Given the description of an element on the screen output the (x, y) to click on. 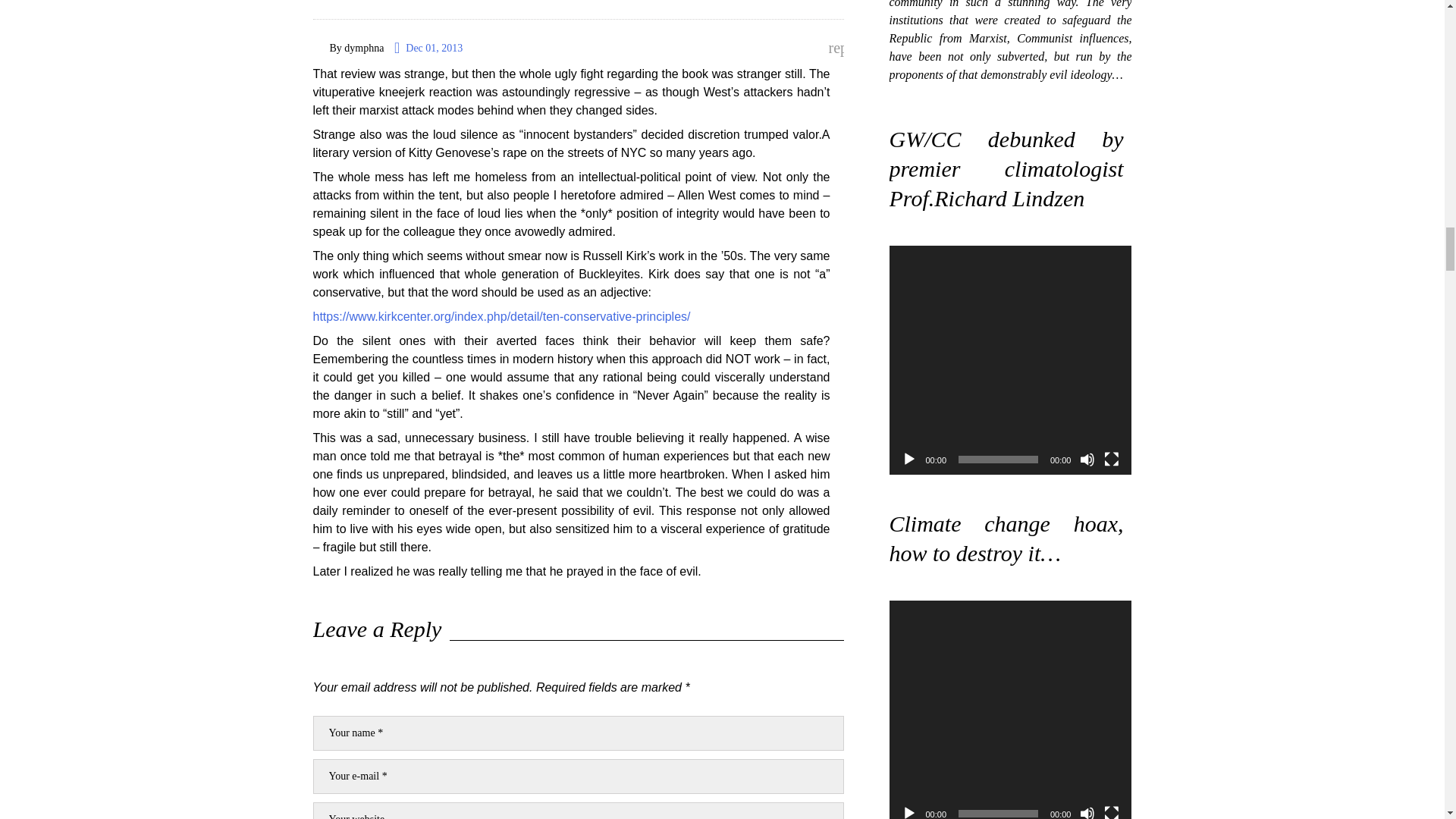
Dec 01, 2013 (428, 48)
